Given the description of an element on the screen output the (x, y) to click on. 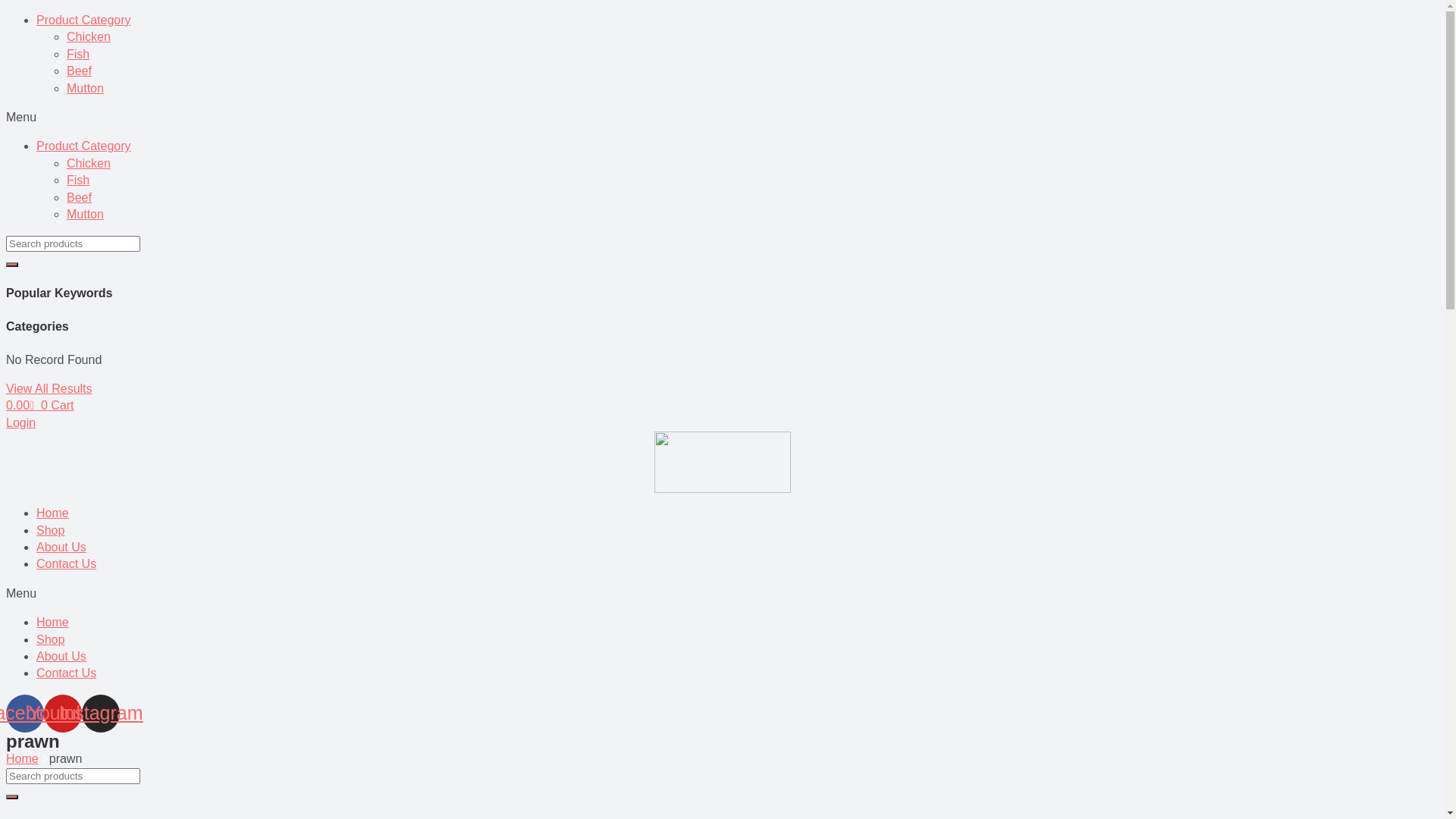
Beef Element type: text (78, 197)
Product Category Element type: text (83, 19)
About Us Element type: text (61, 655)
Instagram Element type: text (100, 713)
About Us Element type: text (61, 546)
Contact Us Element type: text (66, 672)
Shop Element type: text (50, 639)
Chicken Element type: text (88, 36)
Login Element type: text (20, 422)
Fish Element type: text (77, 53)
Facebook Element type: text (24, 713)
Beef Element type: text (78, 70)
Shop Element type: text (50, 530)
Home Element type: text (22, 758)
Home Element type: text (52, 512)
Home Element type: text (52, 621)
Fish Element type: text (77, 179)
Youtube Element type: text (62, 713)
Mutton Element type: text (84, 87)
Product Category Element type: text (83, 145)
Contact Us Element type: text (66, 563)
Chicken Element type: text (88, 162)
Mutton Element type: text (84, 213)
View All Results Element type: text (49, 388)
